Given the description of an element on the screen output the (x, y) to click on. 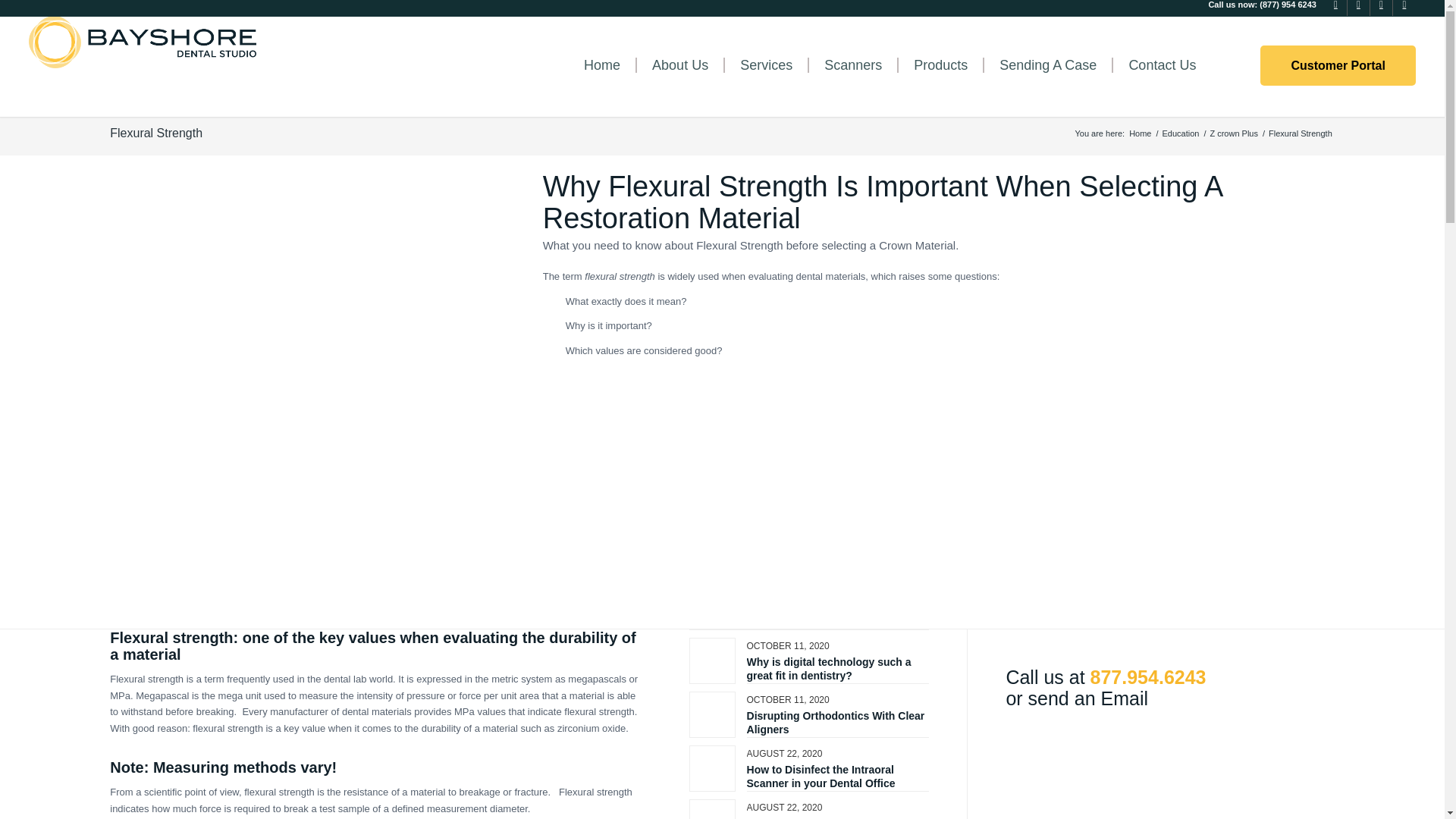
Education (1179, 133)
Customer Portal (1337, 65)
Home (1139, 133)
Flexural Strength (156, 132)
Instagram (1380, 7)
Disrupting Orthodontics With Clear Aligners (835, 722)
Sending A Case (1047, 65)
Twitter (1404, 7)
Link to: Disrupting Orthodontics With Clear Aligners (835, 722)
Facebook (1335, 7)
LinkedIn (1359, 7)
Why is digital technology such a great fit in dentistry? (828, 668)
